Given the description of an element on the screen output the (x, y) to click on. 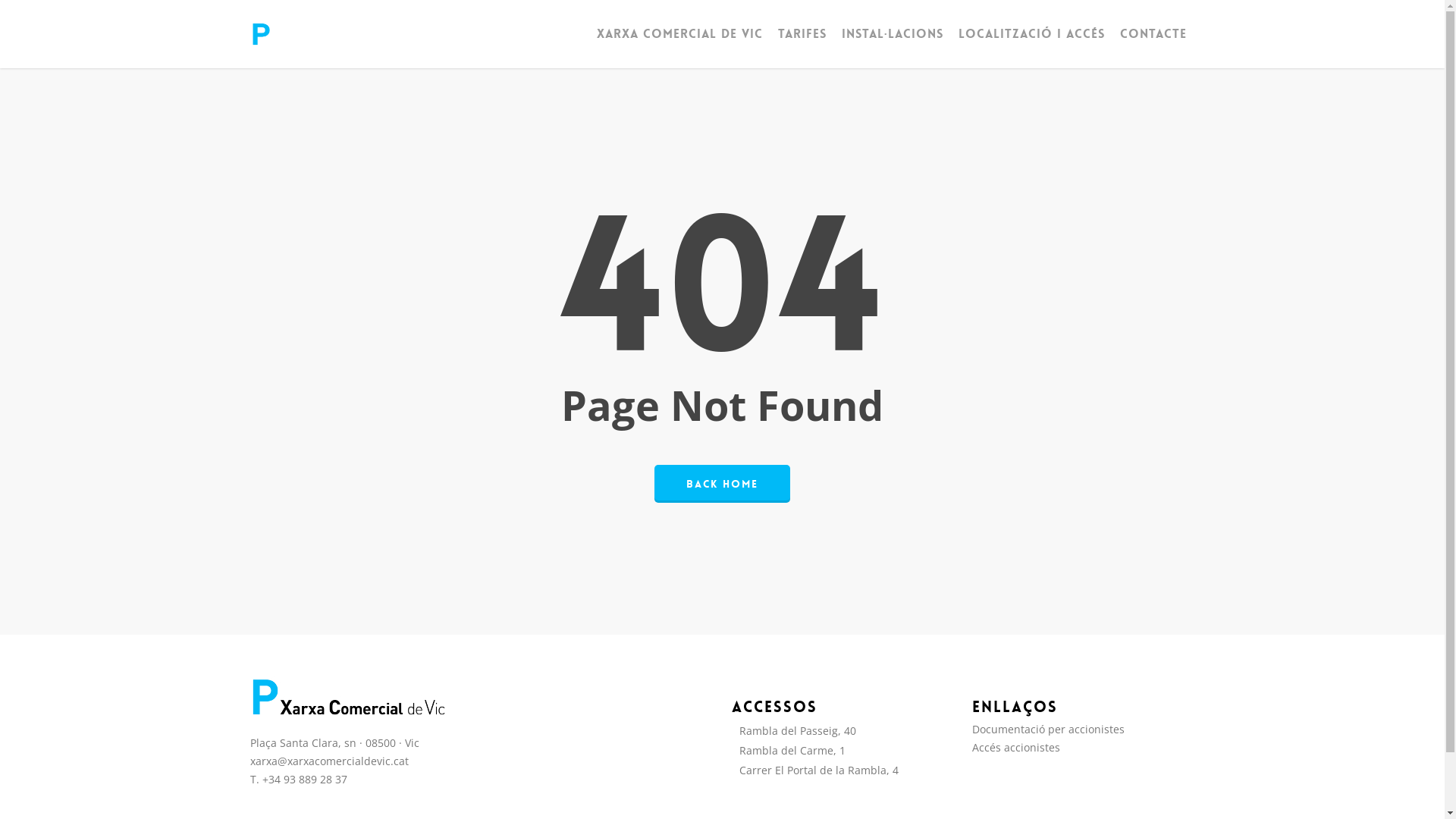
Tarifes Element type: text (802, 33)
Back Home Element type: text (722, 483)
Carrer El Portal de la Rambla, 4 Element type: text (842, 769)
+34 93 889 28 37 Element type: text (304, 778)
Xarxa Comercial de Vic Element type: text (679, 33)
Contacte Element type: text (1153, 33)
Rambla del Carme, 1 Element type: text (842, 749)
Rambla del Passeig, 40 Element type: text (842, 730)
xarxa@xarxacomercialdevic.cat Element type: text (329, 760)
